Given the description of an element on the screen output the (x, y) to click on. 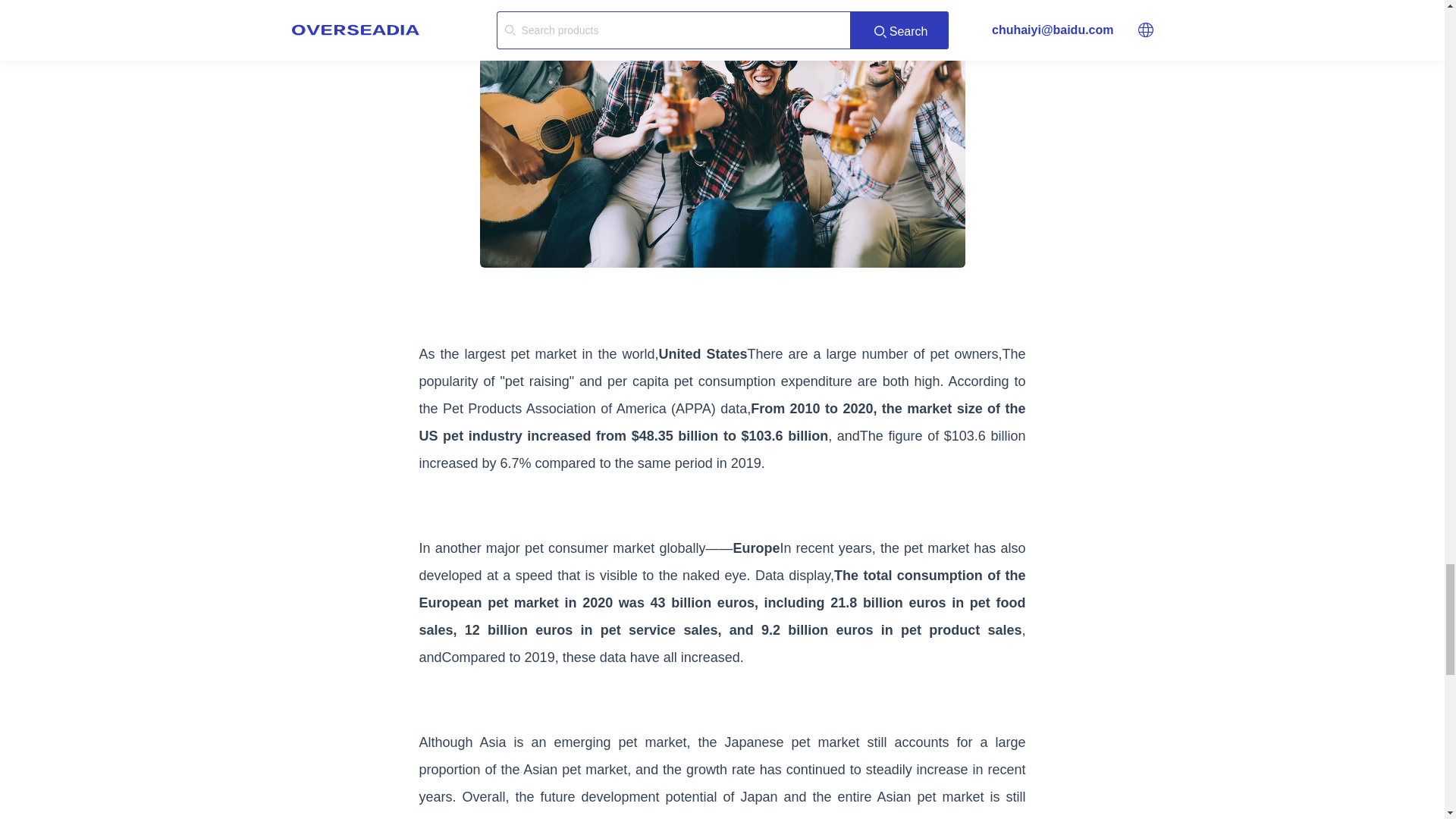
1641439296687488.jpg (721, 133)
